Given the description of an element on the screen output the (x, y) to click on. 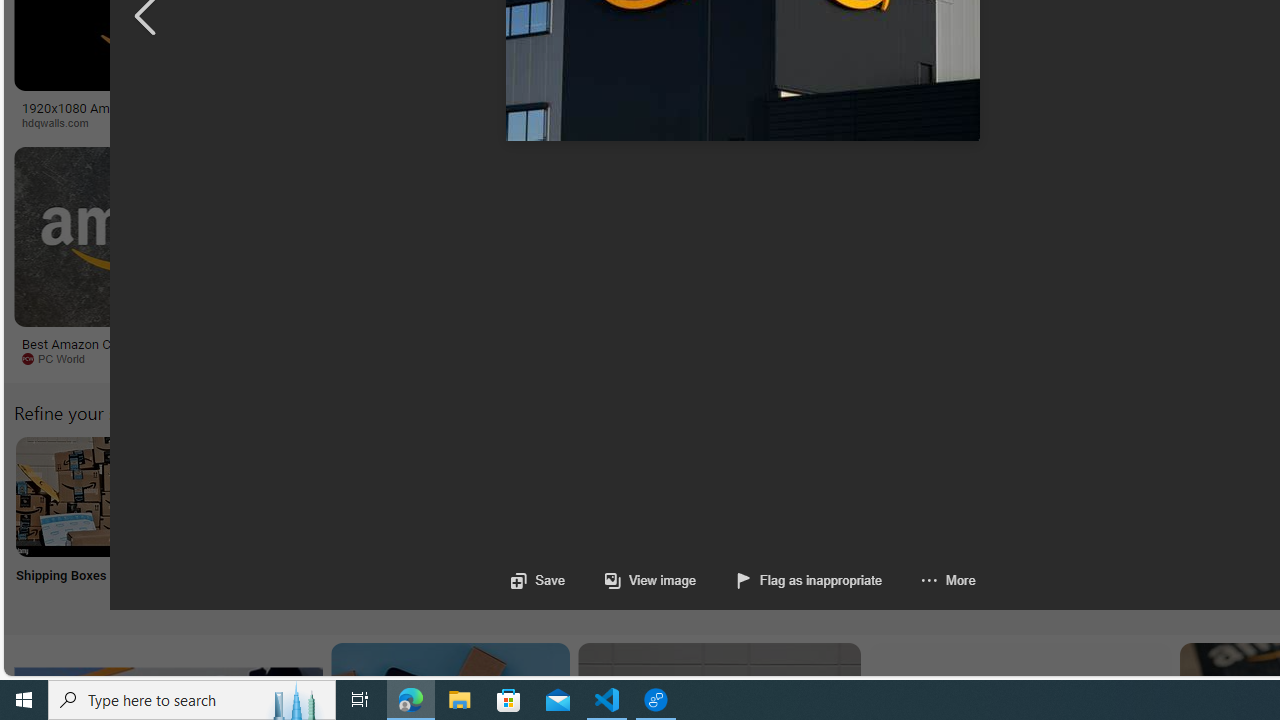
Marketplace (700, 121)
Amazon Log into My Account (472, 496)
Online Shopping Search (207, 521)
PC World (59, 358)
View image (650, 580)
How Much Is Amazon's Net Worth? | GOBankingRates (485, 114)
Amazon Clip Art (339, 496)
Amazon Jobs Near Me (604, 496)
Amazon Retail Store Retail Store (867, 521)
